Given the description of an element on the screen output the (x, y) to click on. 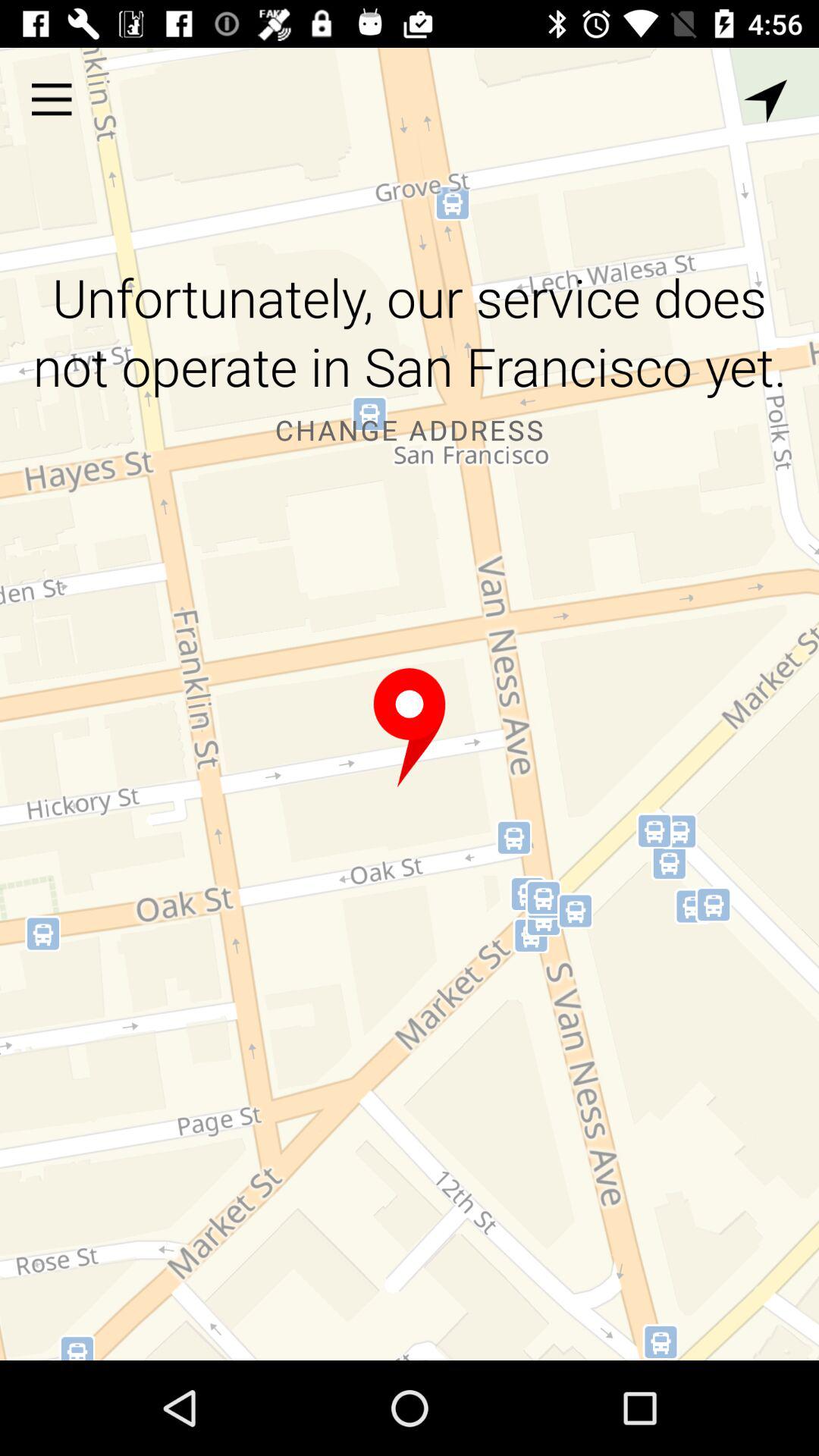
view pinned location (409, 727)
